Given the description of an element on the screen output the (x, y) to click on. 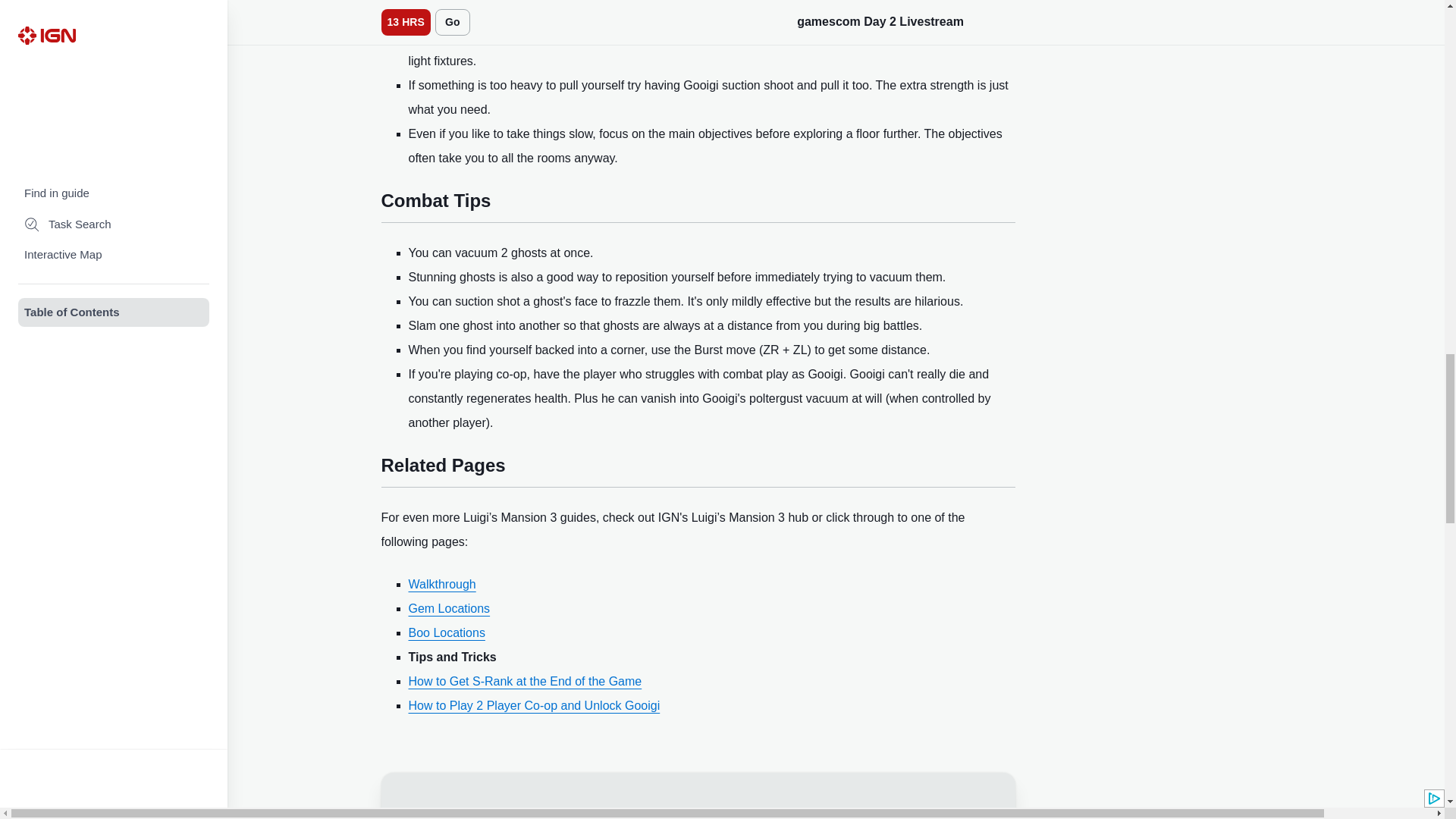
Gem Locations (448, 608)
Boo Locations (445, 632)
How to Get S-Rank at the End of the Game (524, 680)
How to Play 2 Player Co-op and Unlock Gooigi (533, 705)
Walkthrough (441, 584)
